Given the description of an element on the screen output the (x, y) to click on. 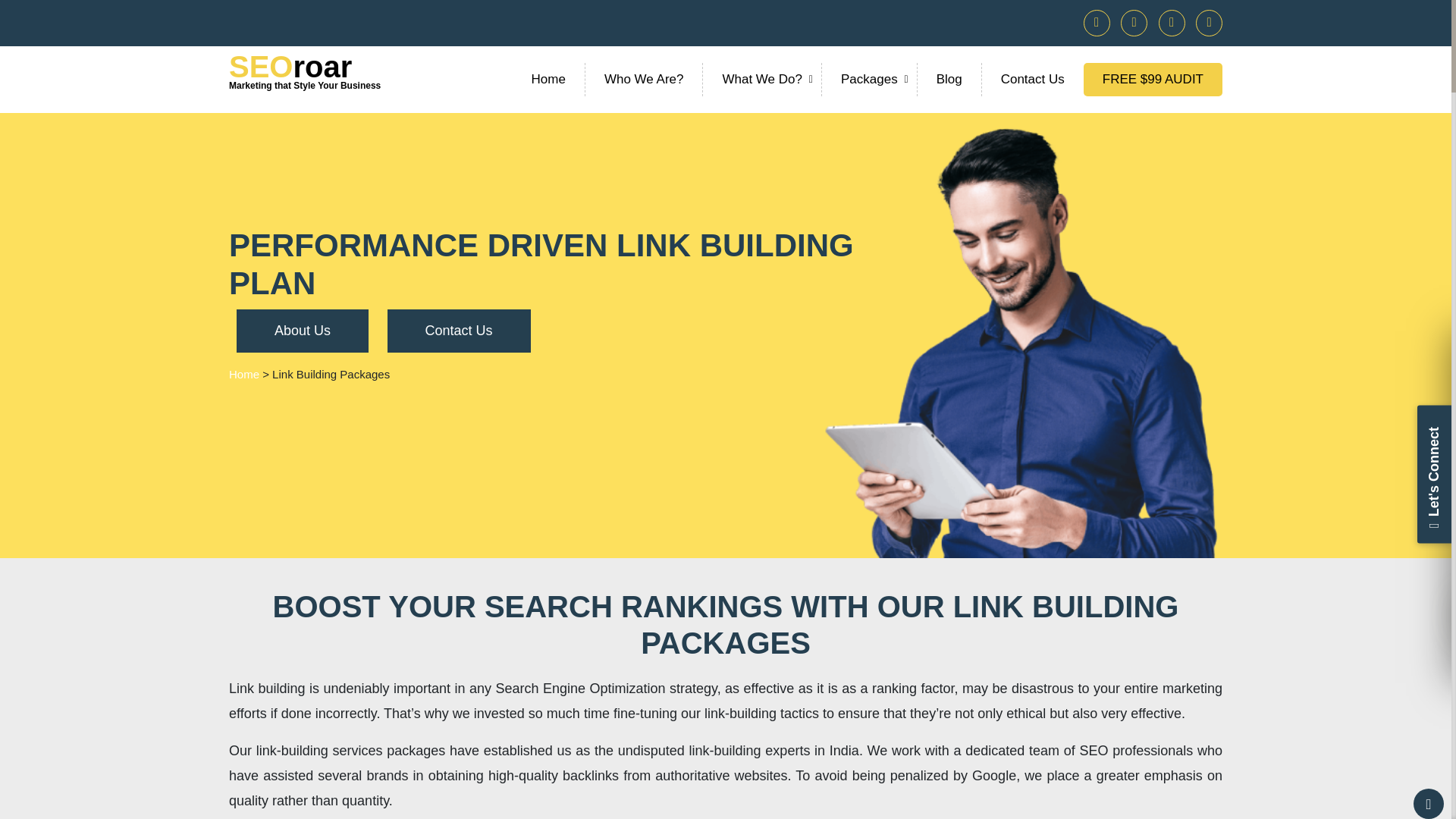
Blog (304, 72)
Who We Are? (949, 79)
Contact Us (644, 79)
Packages (1032, 79)
What We Do? (869, 79)
Home (762, 79)
Contact Us (243, 373)
Home (458, 330)
About Us (548, 79)
